Given the description of an element on the screen output the (x, y) to click on. 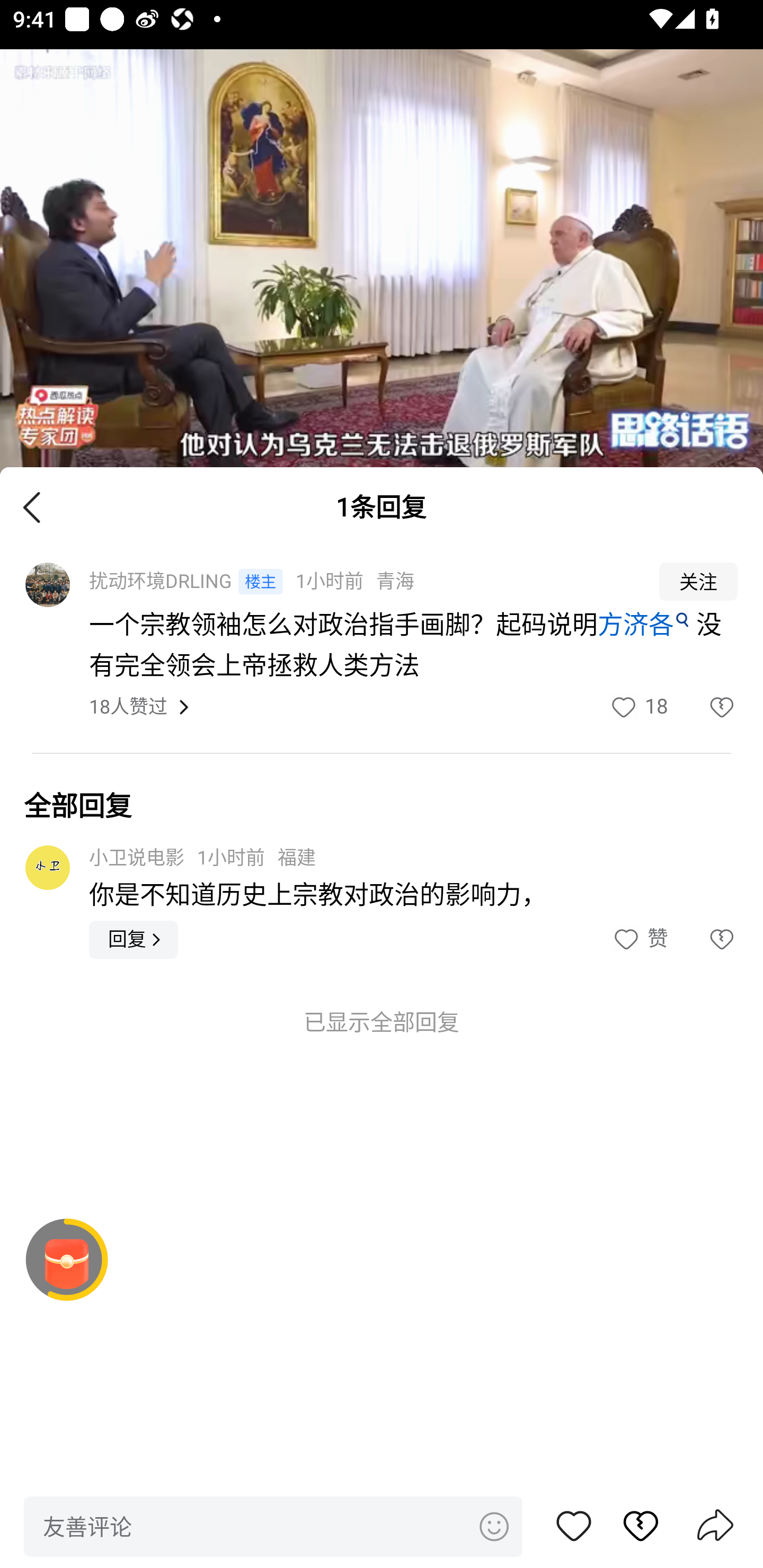
关闭 (31, 506)
关注 (698, 581)
扰动环境DRLING 1小时前 青海 (362, 581)
18人赞过 (128, 707)
赞18 赞 (637, 706)
踩 (702, 706)
小卫说电影 1小时前 福建 (202, 857)
回复 (133, 939)
赞 (638, 938)
踩 (702, 938)
阅读赚金币 (66, 1259)
分享 (715, 1526)
友善评论 表情 (272, 1526)
赞 (574, 1526)
踩 (630, 1526)
表情 (493, 1526)
